Given the description of an element on the screen output the (x, y) to click on. 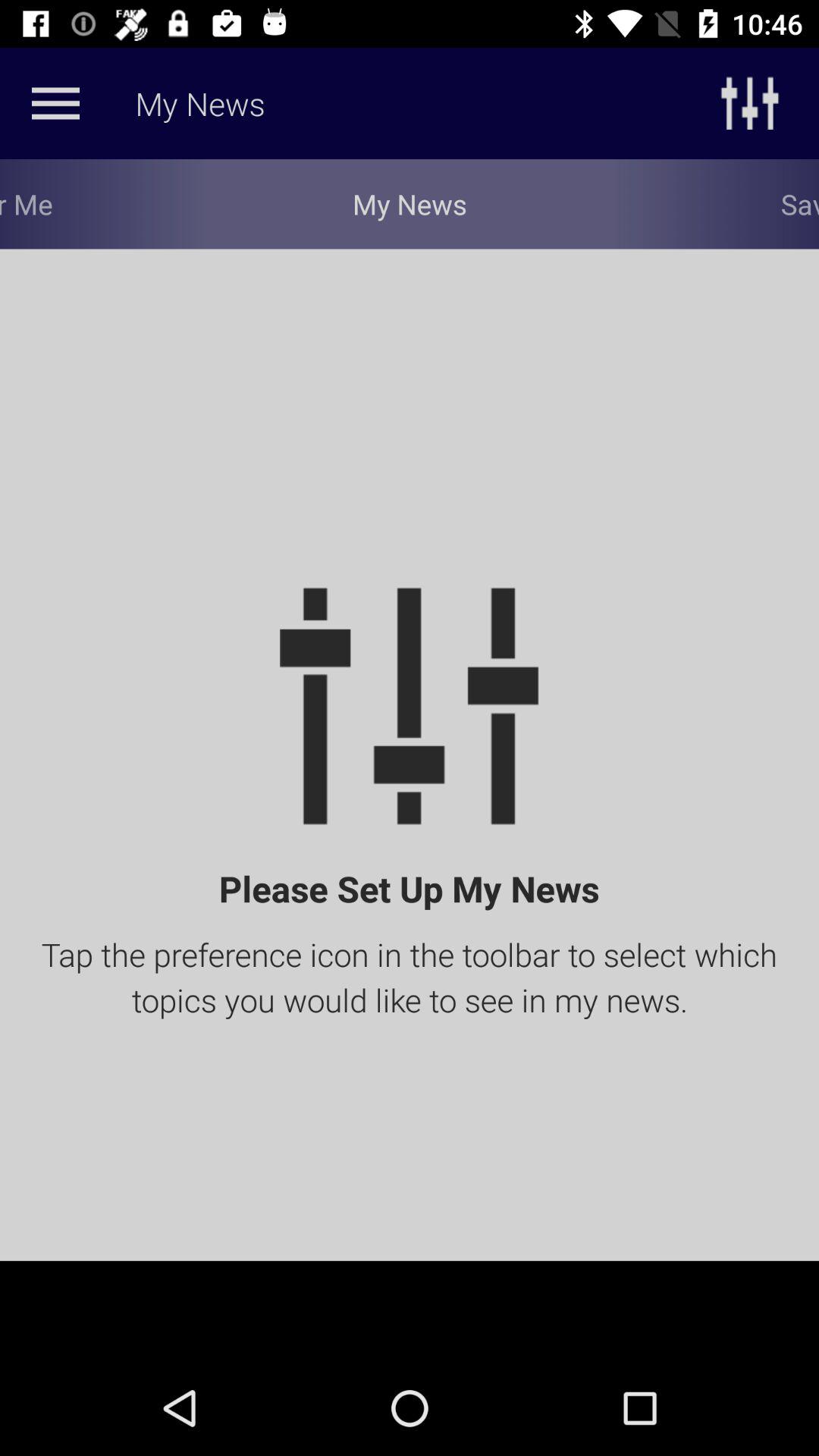
toggle options (55, 103)
